Given the description of an element on the screen output the (x, y) to click on. 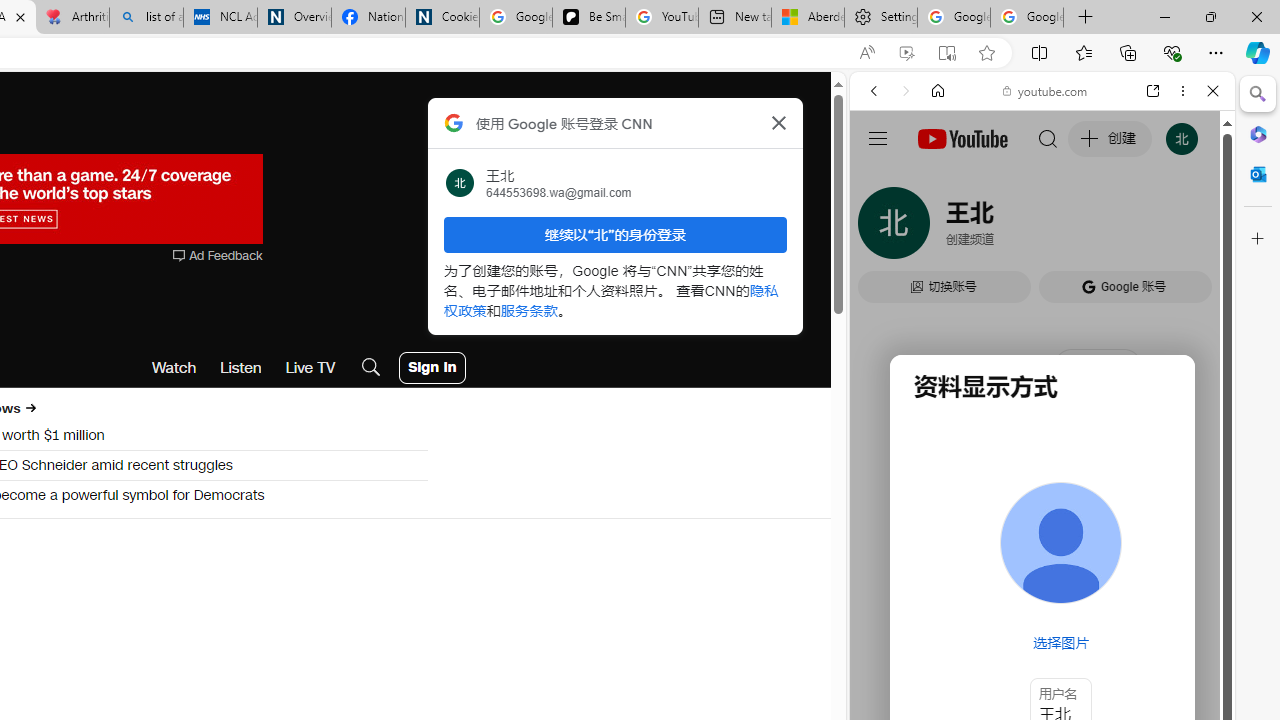
Live TV (310, 367)
